Given the description of an element on the screen output the (x, y) to click on. 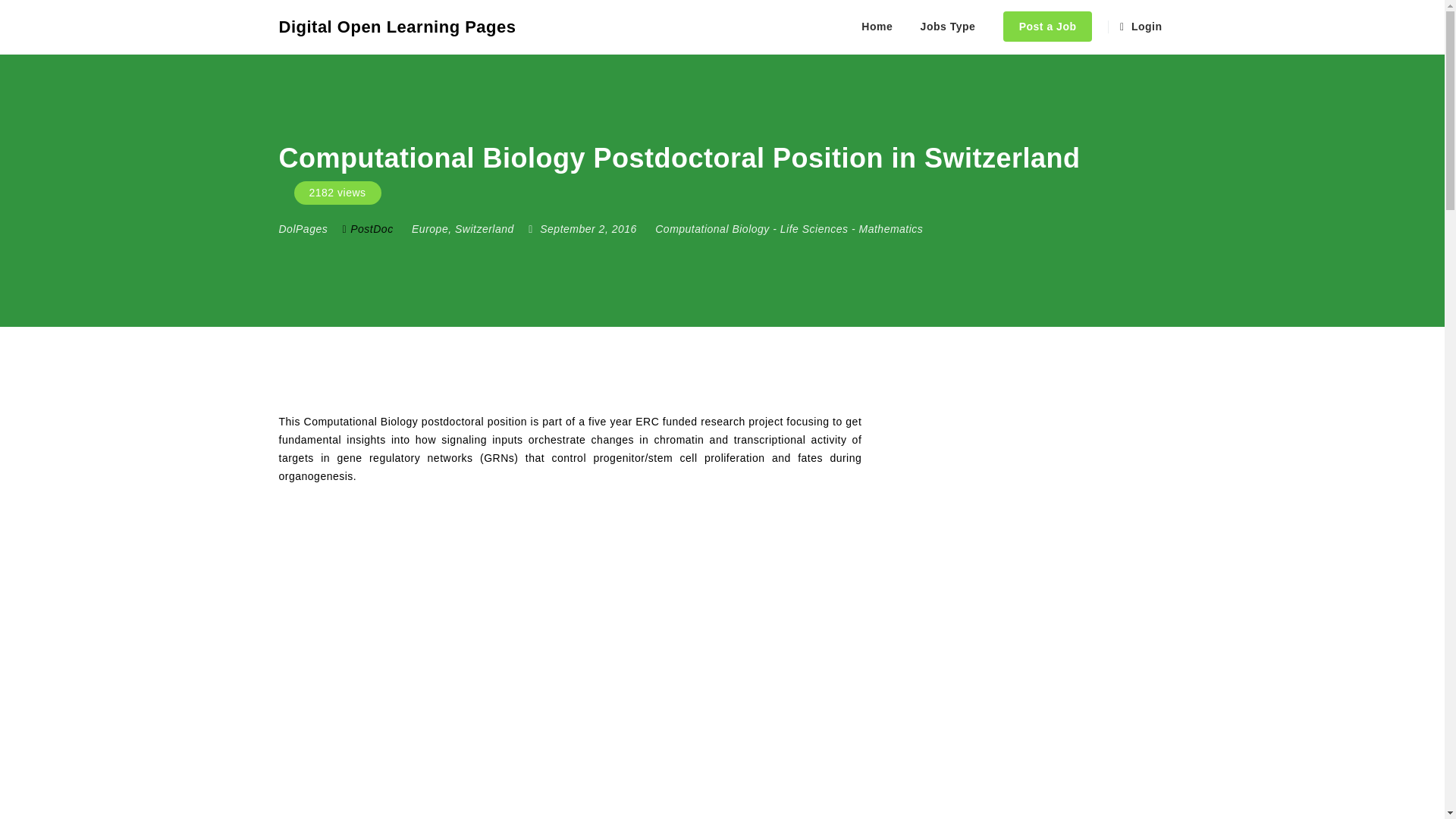
Europe (430, 228)
Jobs Type (948, 27)
DolPages (304, 228)
Digital Open Learning Pages (397, 27)
Life Sciences (814, 228)
Computational Biology (712, 228)
Digital Open Learning Pages (397, 27)
Switzerland (483, 228)
Post a Job (1048, 26)
